Given the description of an element on the screen output the (x, y) to click on. 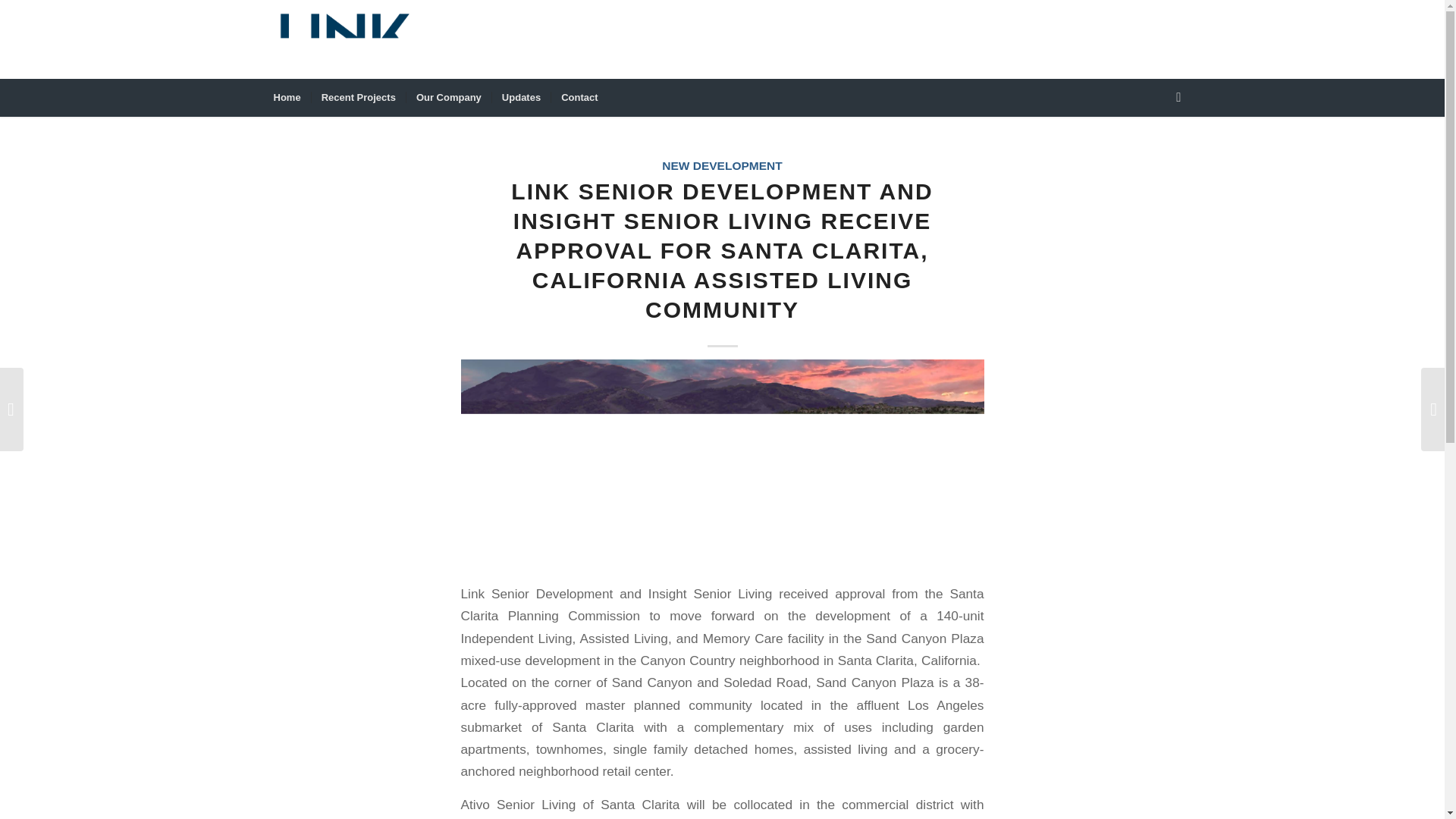
Home (287, 97)
Contact (578, 97)
Recent Projects (358, 97)
Updates (521, 97)
NEW DEVELOPMENT (722, 164)
Our Company (449, 97)
